Given the description of an element on the screen output the (x, y) to click on. 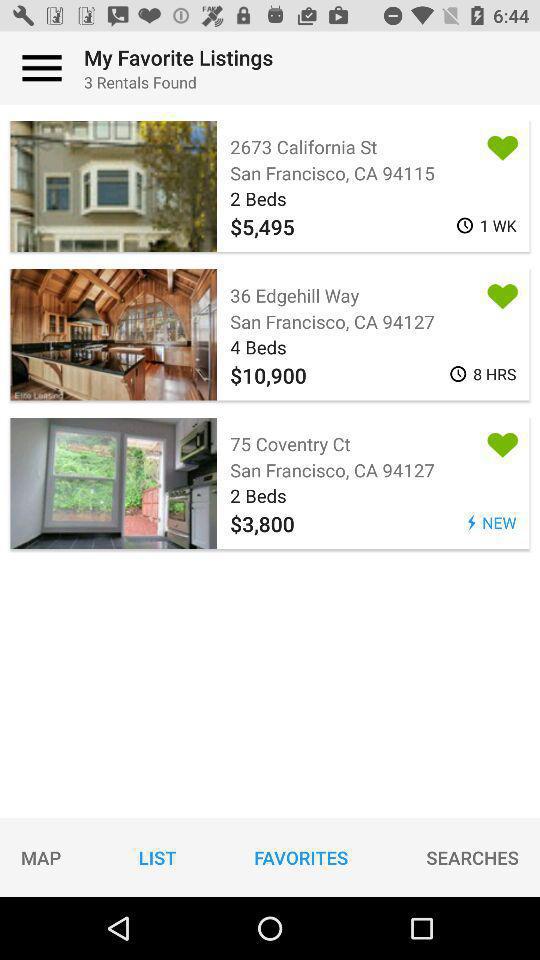
rental listings (41, 68)
